Given the description of an element on the screen output the (x, y) to click on. 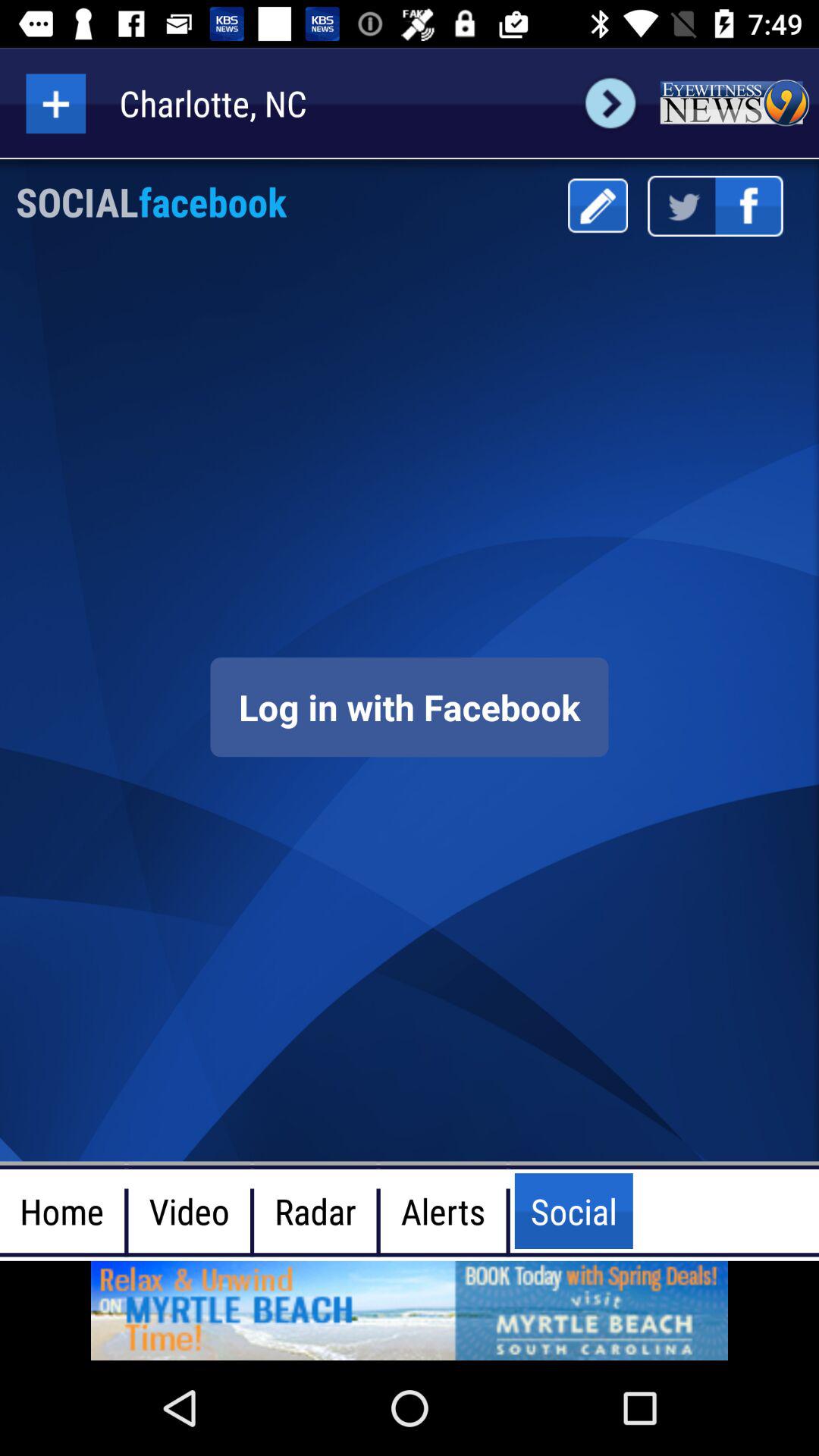
facebook (409, 707)
